Given the description of an element on the screen output the (x, y) to click on. 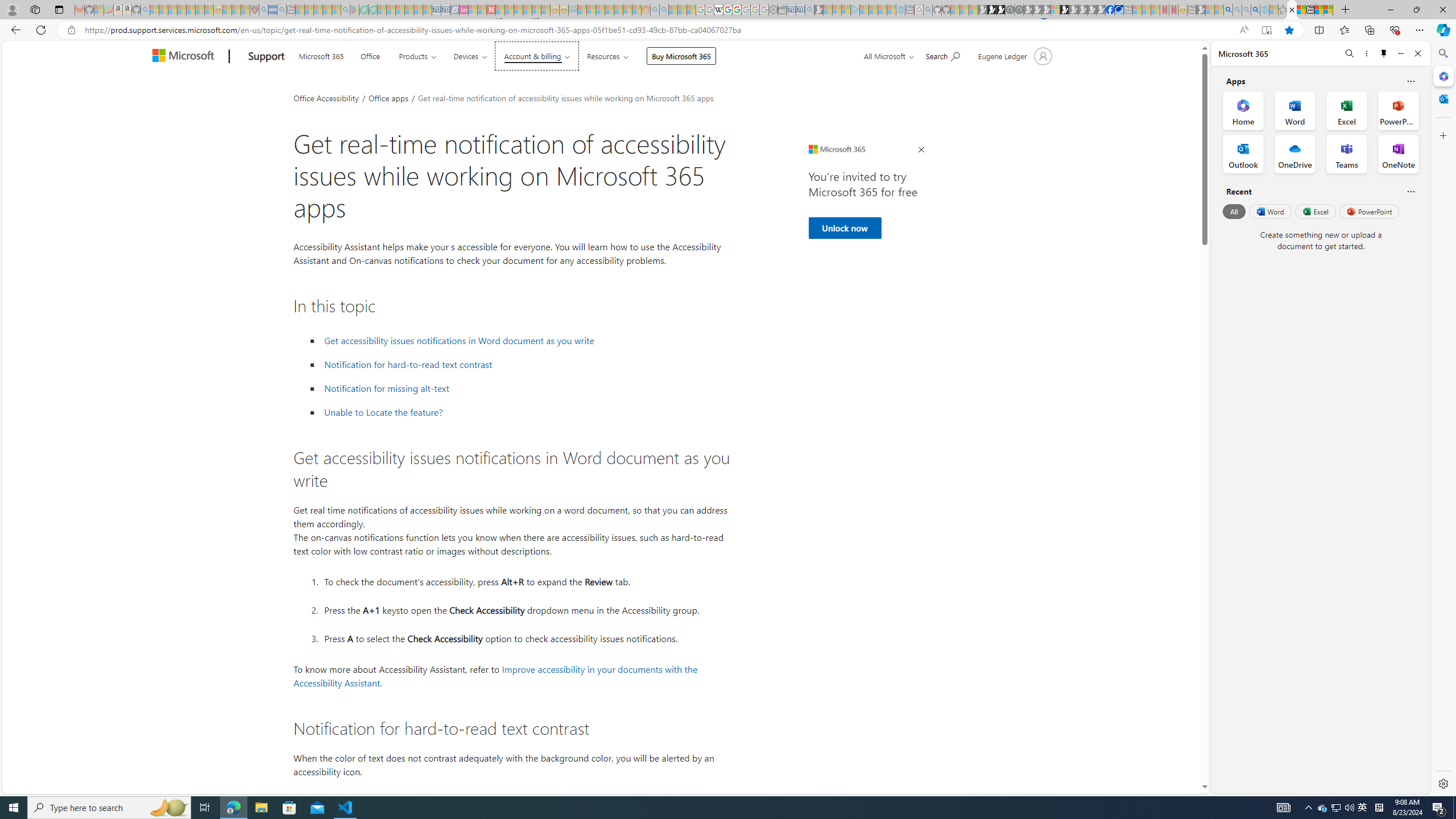
Local - MSN - Sleeping (244, 9)
Nordace | Facebook (1109, 9)
PowerPoint Office App (1398, 110)
Settings - Sleeping (773, 9)
The Weather Channel - MSN - Sleeping (172, 9)
Is this helpful? (1410, 191)
